Given the description of an element on the screen output the (x, y) to click on. 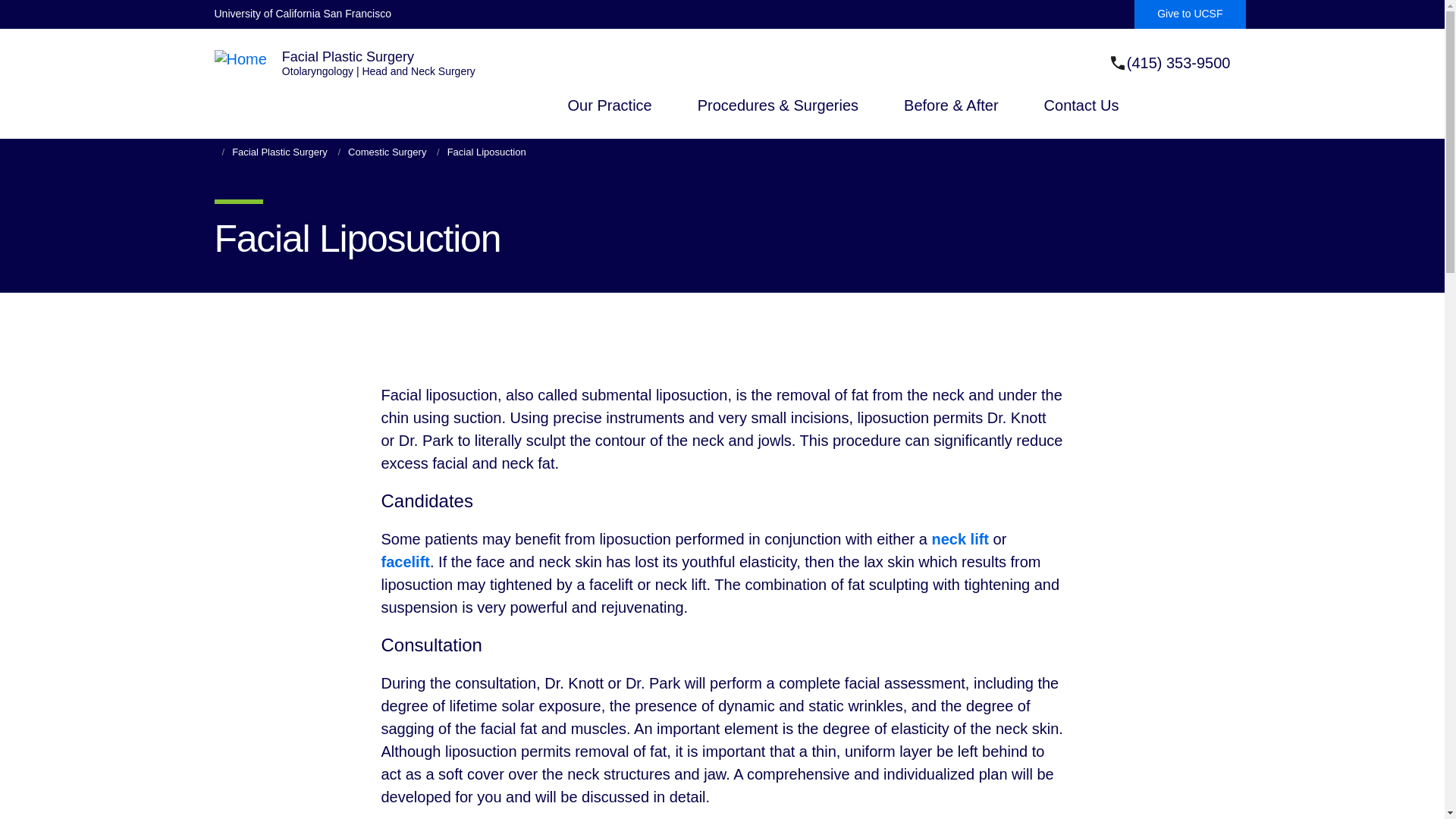
Our Practice (609, 117)
Give to UCSF (1189, 14)
University of California San Francisco (302, 14)
Facial Plastic Surgery (347, 55)
Home (379, 70)
Facelift (404, 561)
Home (240, 59)
